Given the description of an element on the screen output the (x, y) to click on. 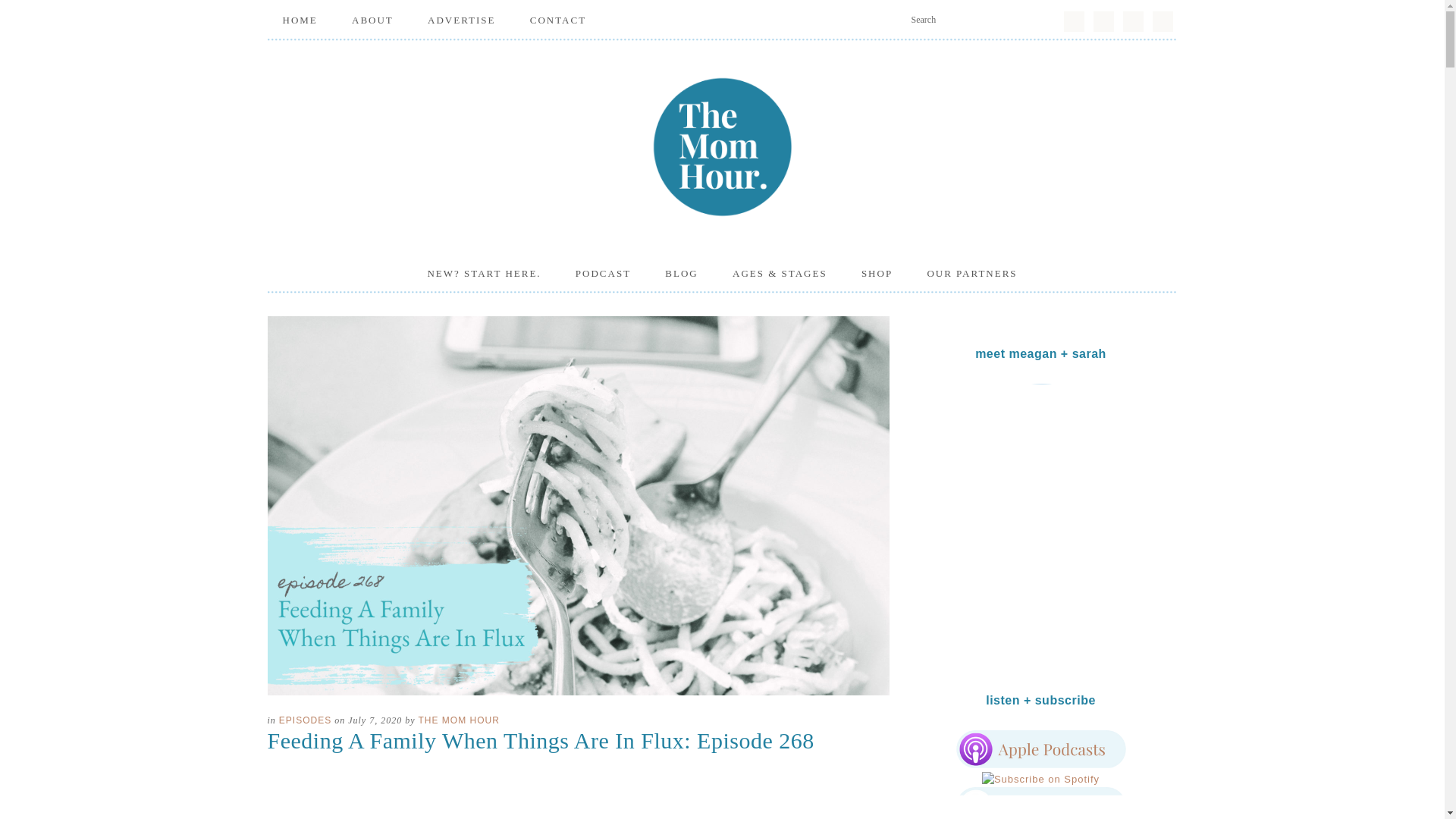
CONTACT (558, 20)
OUR PARTNERS (971, 273)
SHOP (876, 273)
EPISODES (305, 719)
NEW? START HERE. (484, 273)
HOME (298, 20)
ADVERTISE (461, 20)
